Given the description of an element on the screen output the (x, y) to click on. 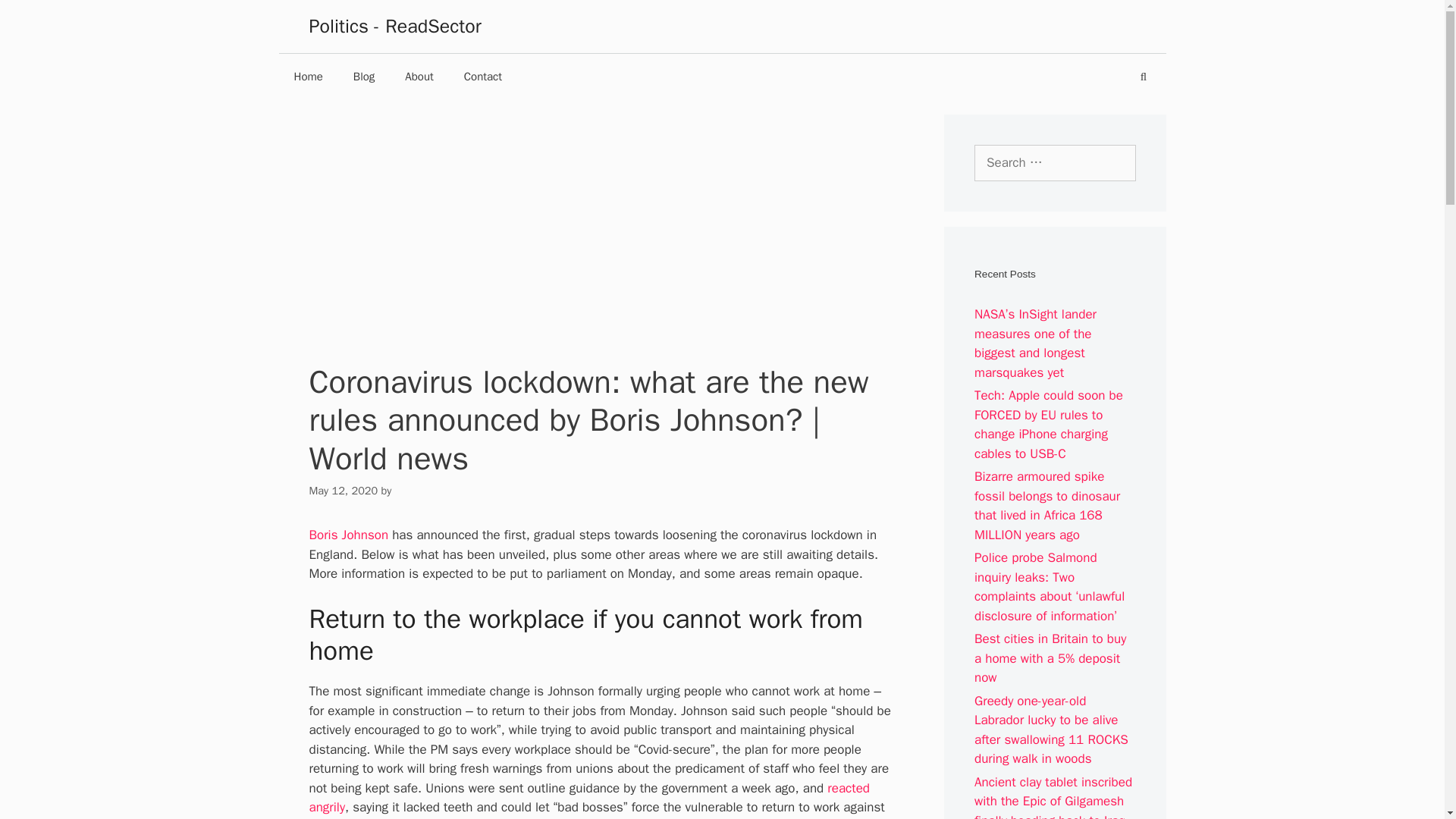
About (419, 76)
reacted angrily (588, 797)
Home (308, 76)
Boris Johnson (348, 534)
Search (34, 16)
Blog (363, 76)
Politics - ReadSector (394, 25)
Contact (482, 76)
Search for: (1054, 162)
